Given the description of an element on the screen output the (x, y) to click on. 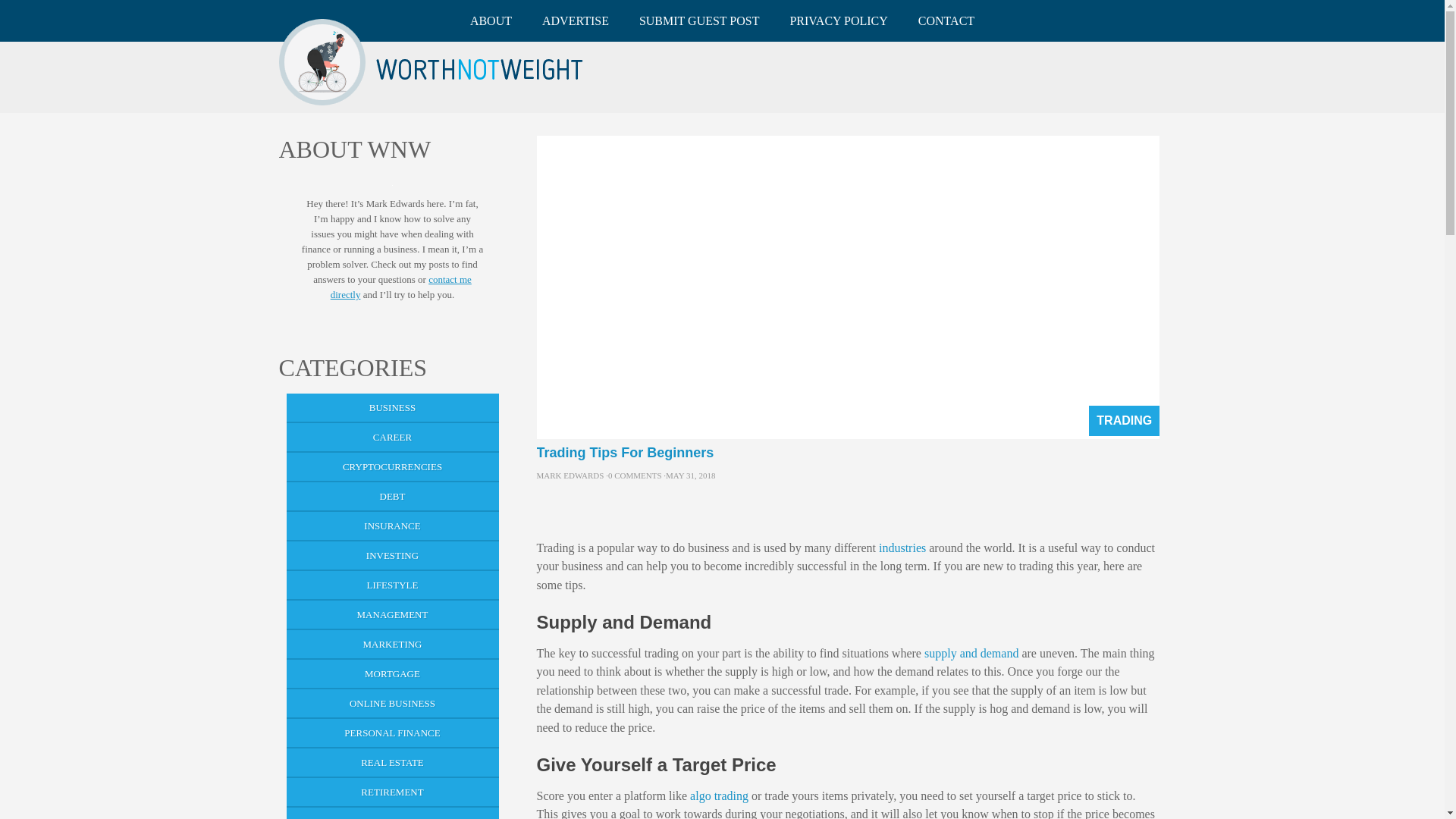
INSURANCE (392, 526)
RETIREMENT (392, 792)
ADVERTISE (575, 20)
CAREER (392, 437)
REAL ESTATE (392, 763)
ABOUT (490, 20)
algo trading (719, 795)
PERSONAL FINANCE (392, 733)
CRYPTOCURRENCIES (392, 467)
MANAGEMENT (392, 614)
